Given the description of an element on the screen output the (x, y) to click on. 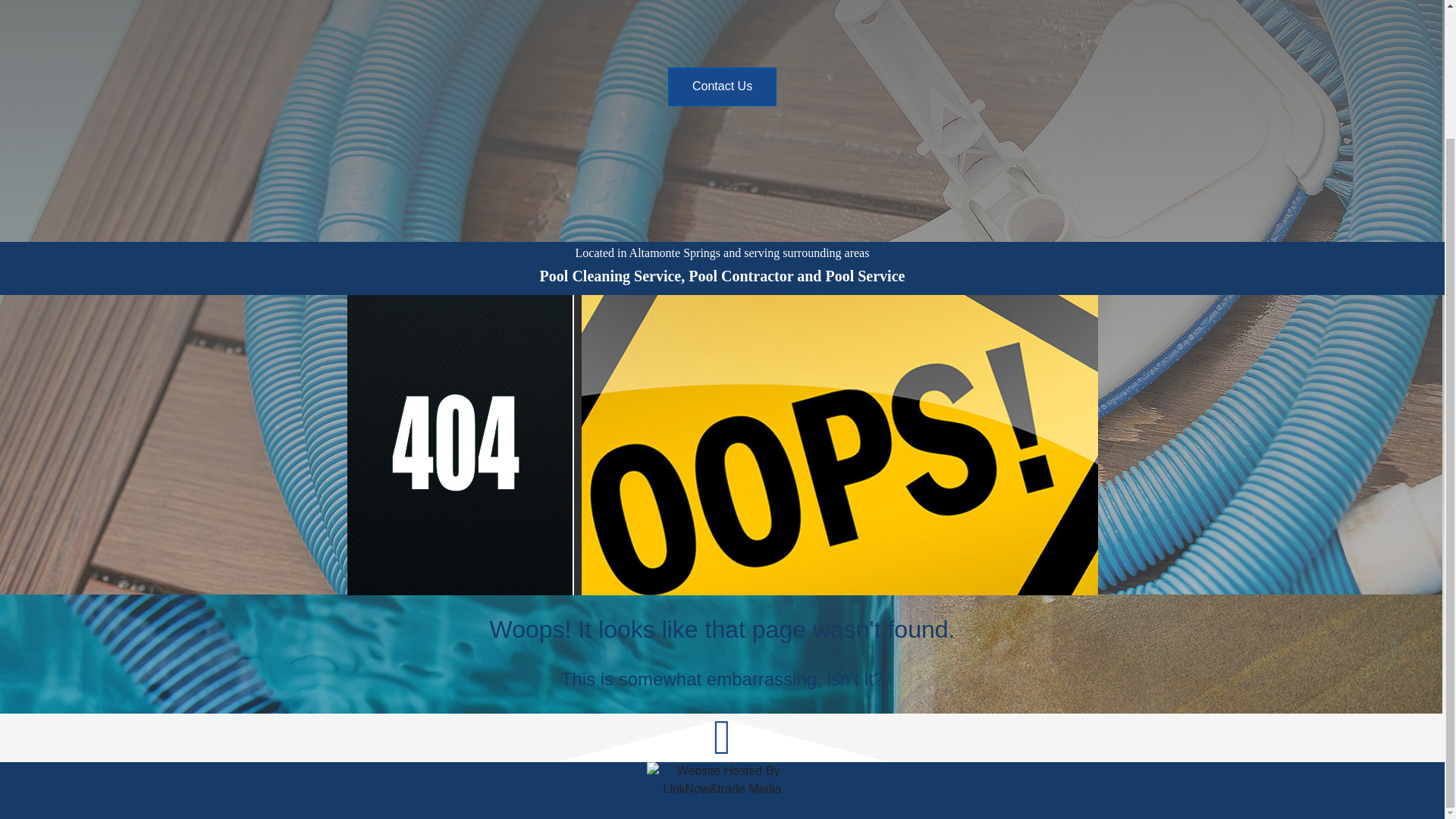
Pool Cleaning (1195, 61)
Pool Contractor (1195, 114)
Contact Us (722, 86)
From Green to Clever-Blue (1195, 35)
Pool Acid Wash (1195, 88)
Pool Services (1195, 140)
Pool Start-Up (1195, 11)
Service Areas (1195, 167)
